Given the description of an element on the screen output the (x, y) to click on. 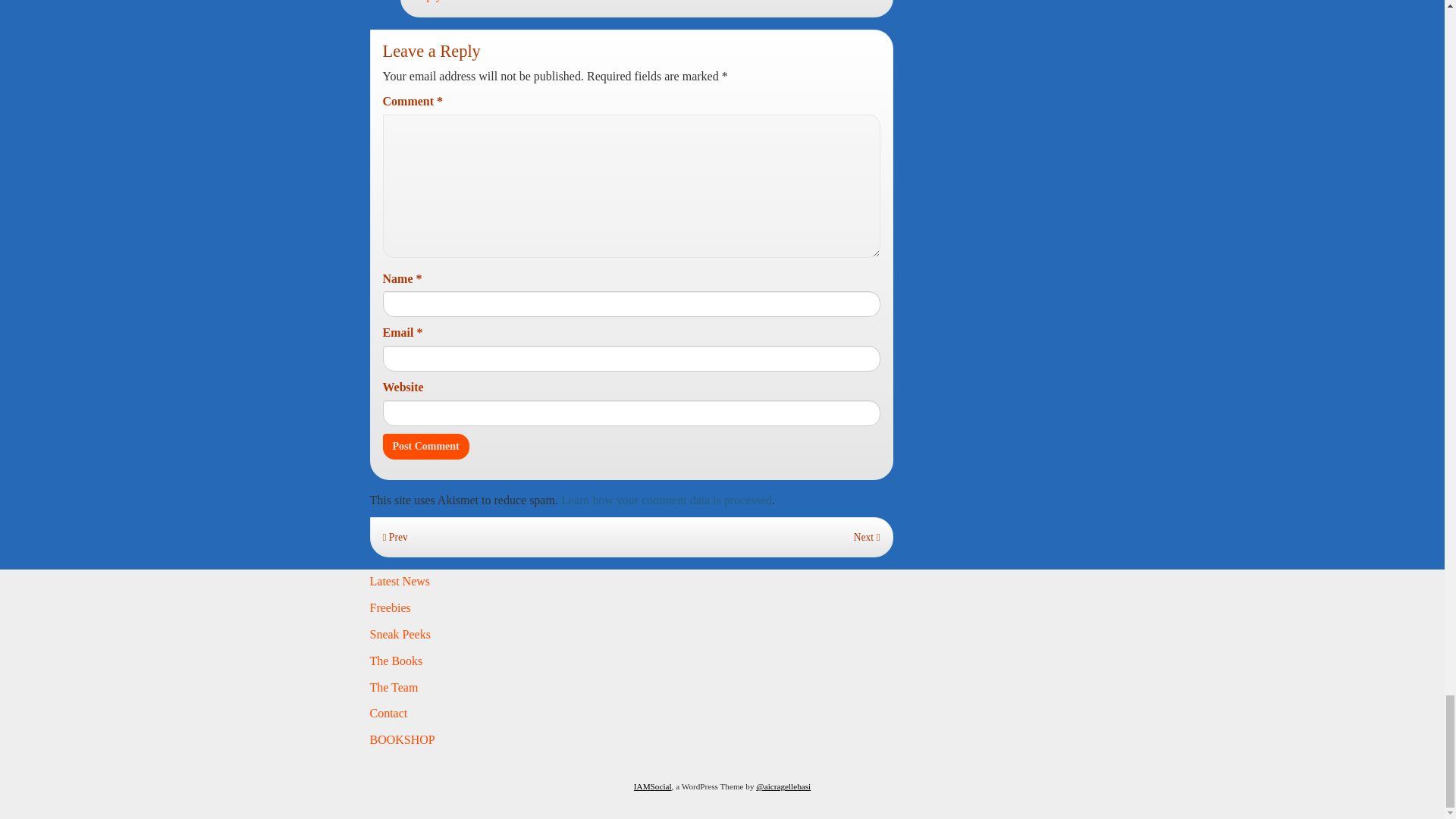
Reply (426, 0)
Next (866, 536)
Post Comment (424, 446)
Post Comment (424, 446)
Learn how your comment data is processed (665, 499)
Prev (394, 536)
